Given the description of an element on the screen output the (x, y) to click on. 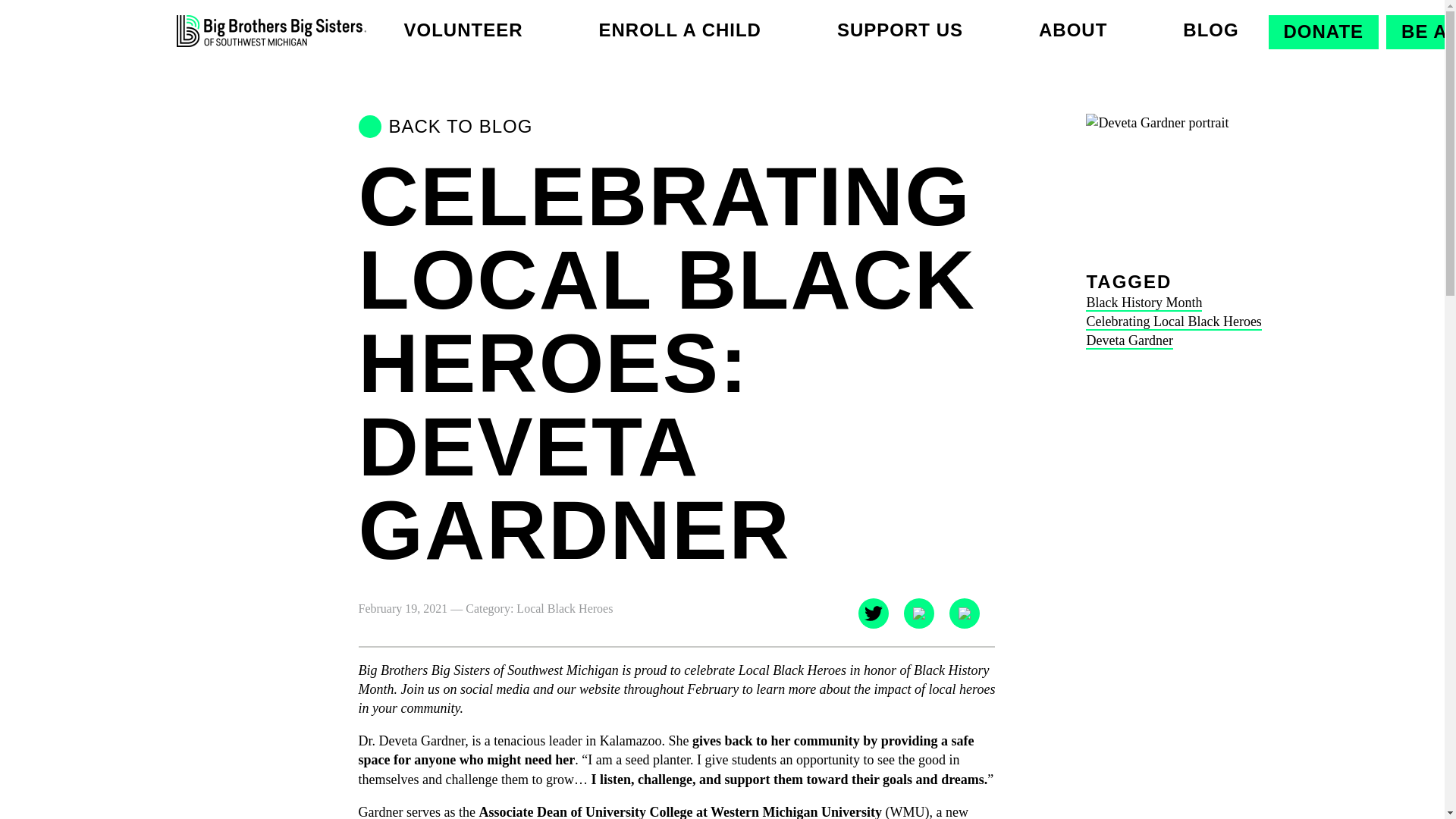
BLOG (1210, 29)
University College at Western Michigan University (733, 811)
SUPPORT US (899, 29)
BACK TO BLOG (676, 126)
ENROLL A CHILD (679, 29)
VOLUNTEER (462, 29)
Local Black Heroes (564, 608)
DONATE (1323, 30)
ABOUT (1072, 29)
Black History Month (1144, 302)
